Given the description of an element on the screen output the (x, y) to click on. 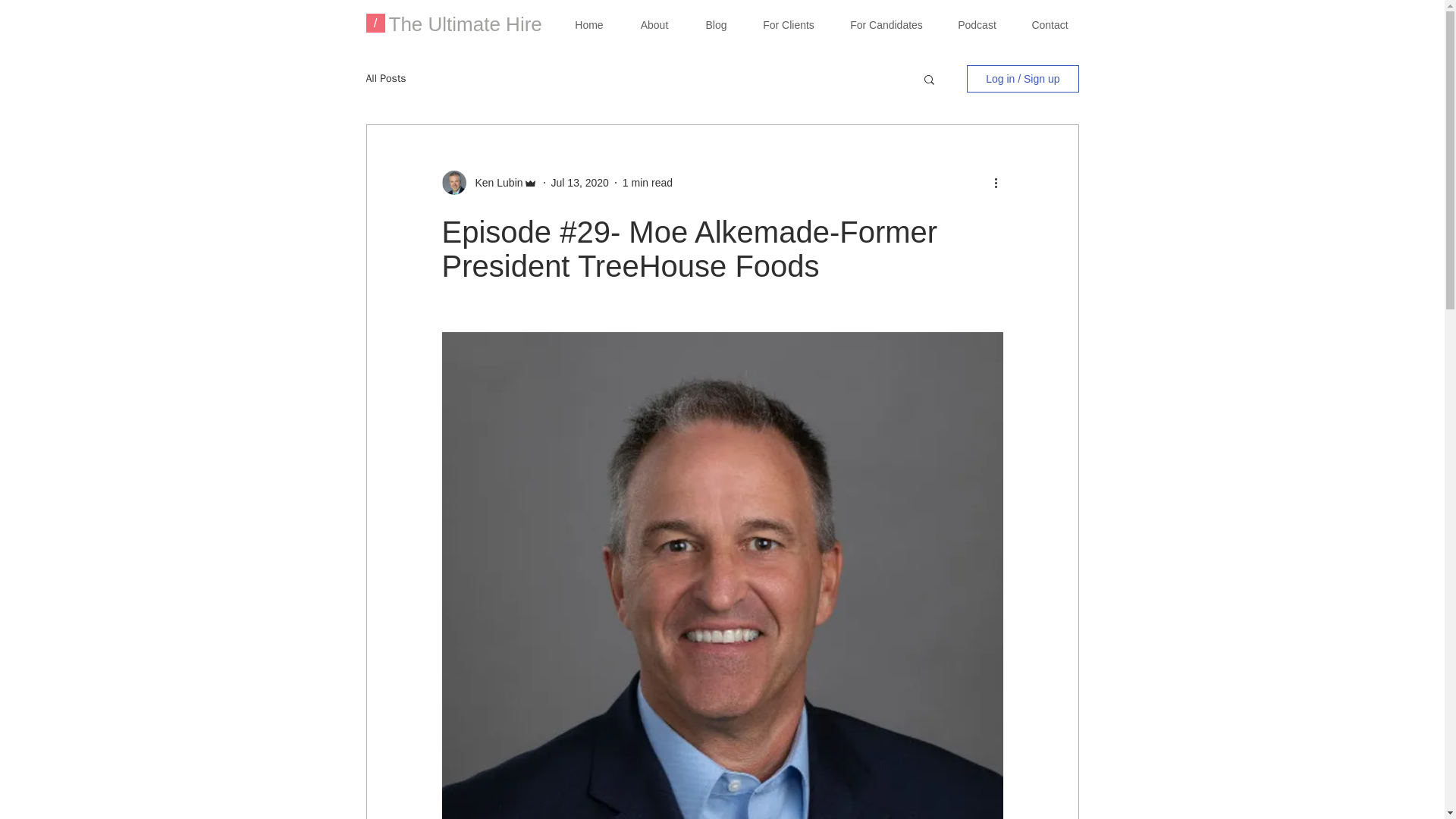
For Clients (787, 25)
Home (588, 25)
Jul 13, 2020 (579, 182)
All Posts (385, 78)
For Candidates (886, 25)
The Ultimate Hire (464, 24)
Blog (715, 25)
1 min read (647, 182)
Podcast (976, 25)
About (654, 25)
Contact (1049, 25)
Ken Lubin (493, 182)
